Given the description of an element on the screen output the (x, y) to click on. 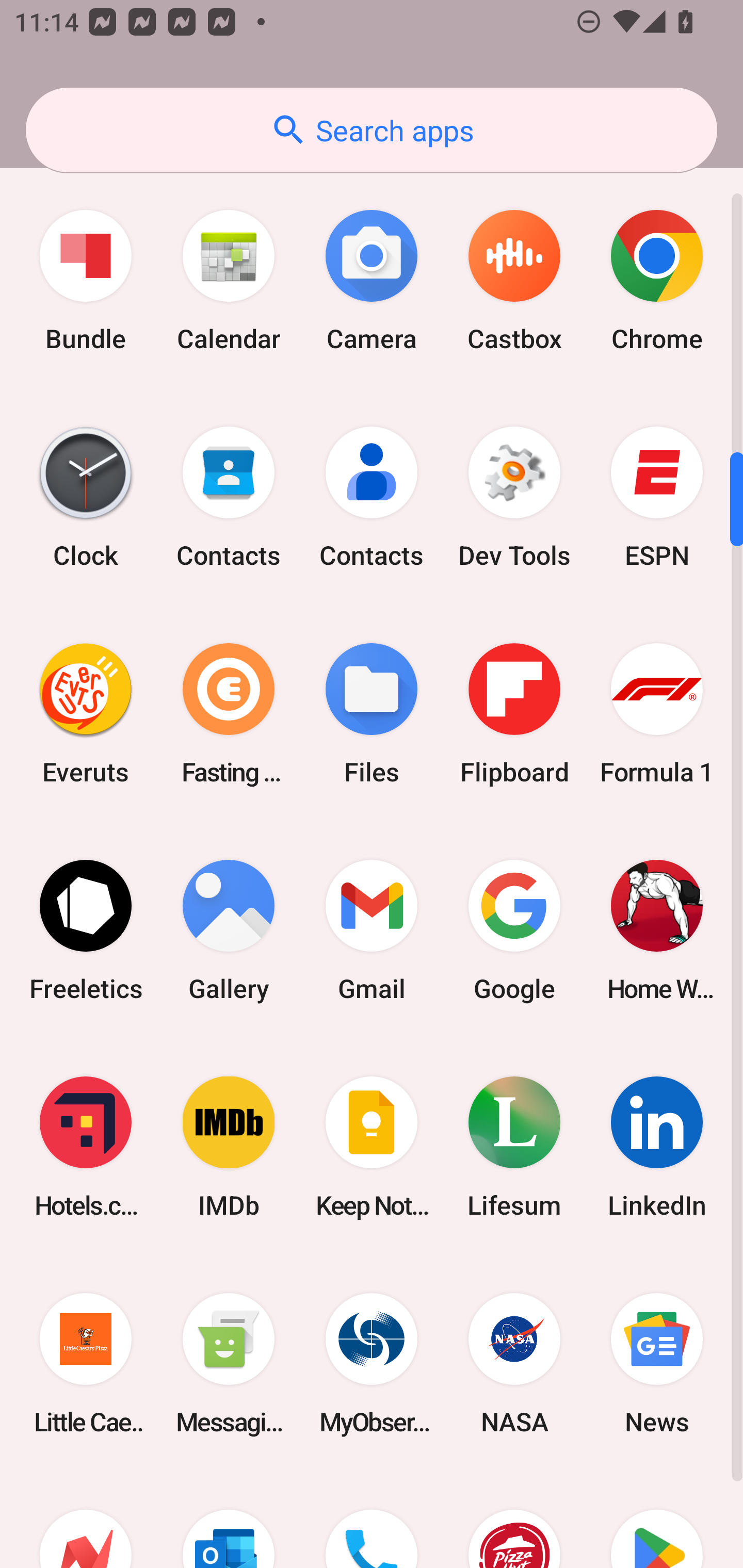
  Search apps (371, 130)
Bundle (85, 280)
Calendar (228, 280)
Camera (371, 280)
Castbox (514, 280)
Chrome (656, 280)
Clock (85, 496)
Contacts (228, 496)
Contacts (371, 496)
Dev Tools (514, 496)
ESPN (656, 496)
Everuts (85, 713)
Fasting Coach (228, 713)
Files (371, 713)
Flipboard (514, 713)
Formula 1 (656, 713)
Freeletics (85, 929)
Gallery (228, 929)
Gmail (371, 929)
Google (514, 929)
Home Workout (656, 929)
Hotels.com (85, 1146)
IMDb (228, 1146)
Keep Notes (371, 1146)
Lifesum (514, 1146)
LinkedIn (656, 1146)
Little Caesars Pizza (85, 1363)
Messaging (228, 1363)
MyObservatory (371, 1363)
NASA (514, 1363)
News (656, 1363)
